Given the description of an element on the screen output the (x, y) to click on. 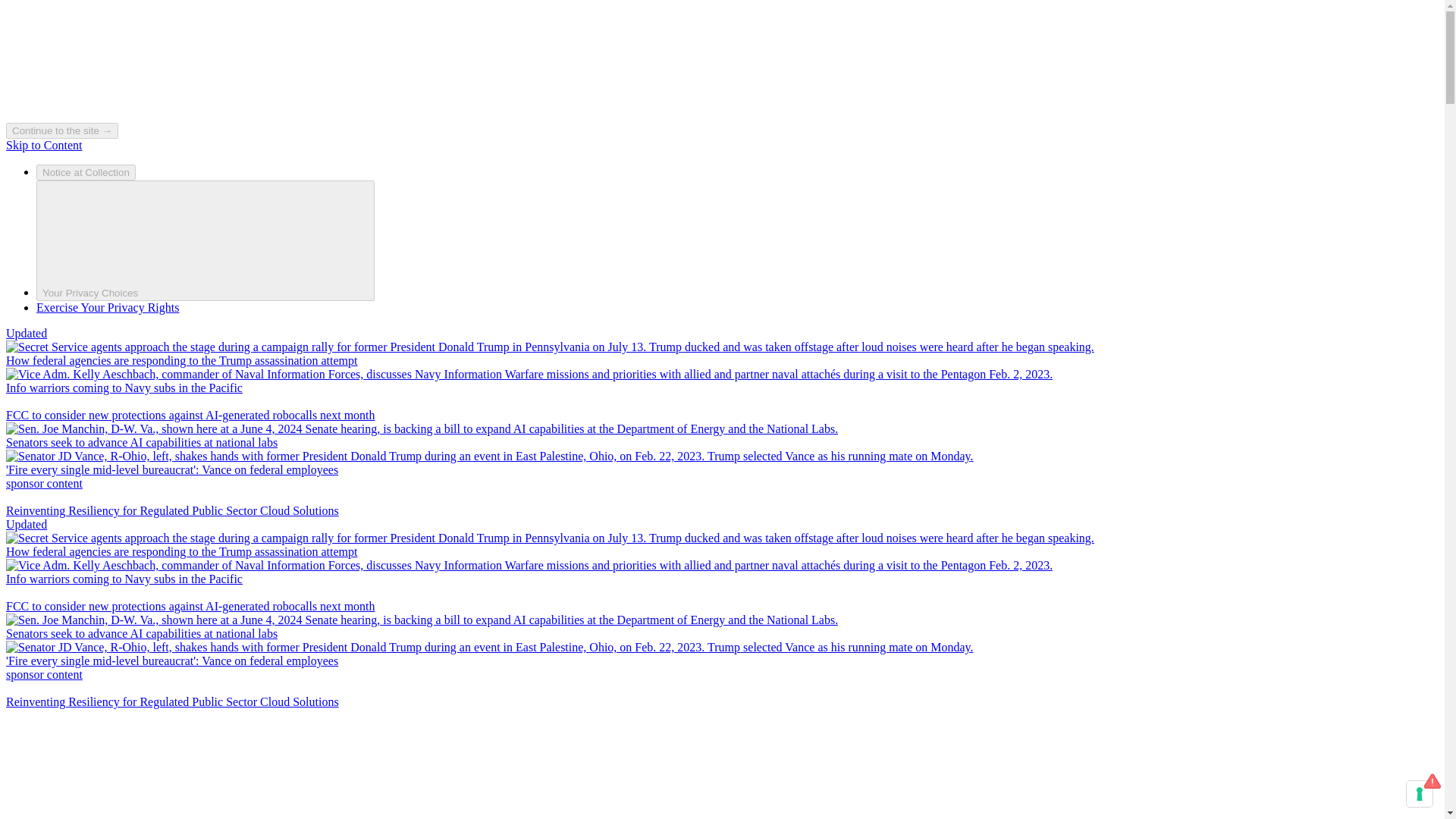
Notice at Collection (85, 172)
Skip to Content (43, 144)
Your Privacy Choices (205, 240)
Exercise Your Privacy Rights (107, 307)
